Given the description of an element on the screen output the (x, y) to click on. 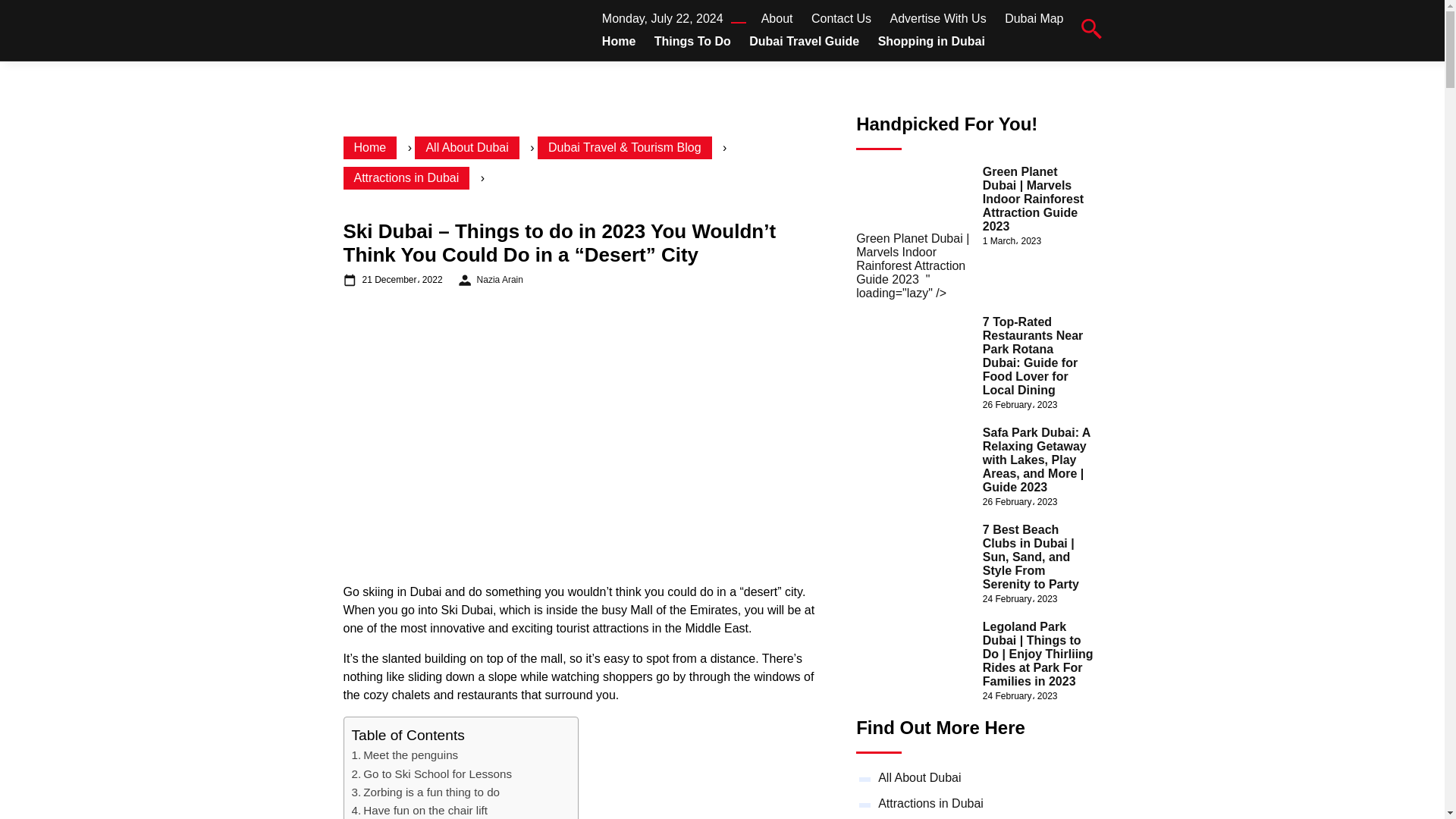
Dubai Travel Guide (804, 41)
All About Dubai (466, 147)
Meet the penguins (405, 755)
Dubai Map (1033, 18)
Nazia Arain (499, 280)
Home (618, 41)
About (777, 18)
Attractions in Dubai (405, 178)
Zorbing is a fun thing to do (426, 791)
Go to Ski School for Lessons (432, 773)
Contact Us (840, 18)
Have fun on the chair lift (419, 810)
Home (369, 147)
Shopping in Dubai (931, 41)
Have fun on the chair lift (419, 810)
